Given the description of an element on the screen output the (x, y) to click on. 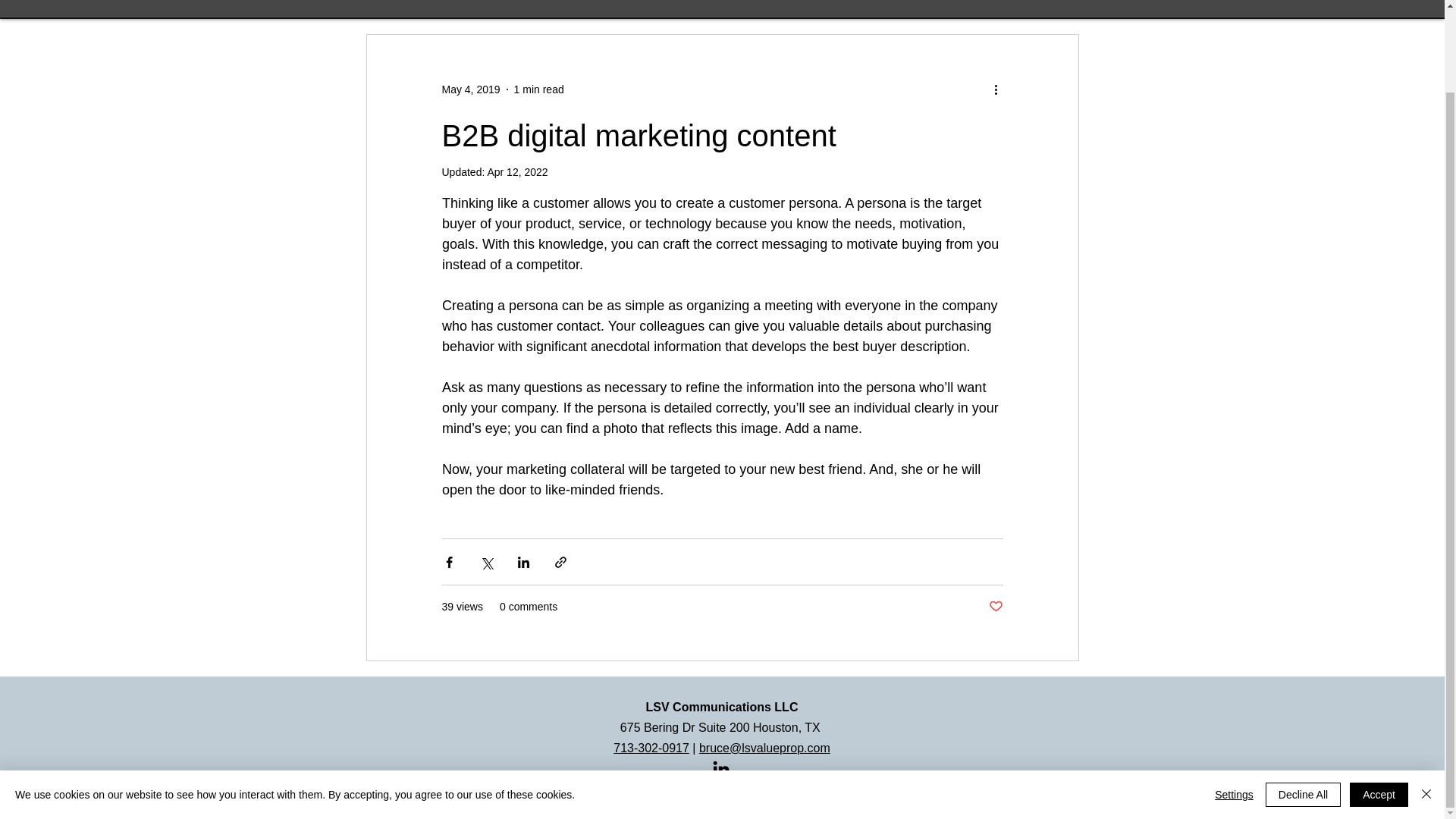
Web Design (659, 2)
Post not marked as liked (995, 606)
About (909, 2)
Accept (1378, 701)
Animation (797, 2)
Writing Coach 911 (1063, 2)
713-302-0917 (650, 748)
Apr 12, 2022 (516, 172)
Video (731, 2)
Decline All (1302, 701)
May 4, 2019 (470, 89)
Blog (858, 2)
Contact (969, 2)
1 min read (538, 89)
Engaging Messaging (389, 2)
